Given the description of an element on the screen output the (x, y) to click on. 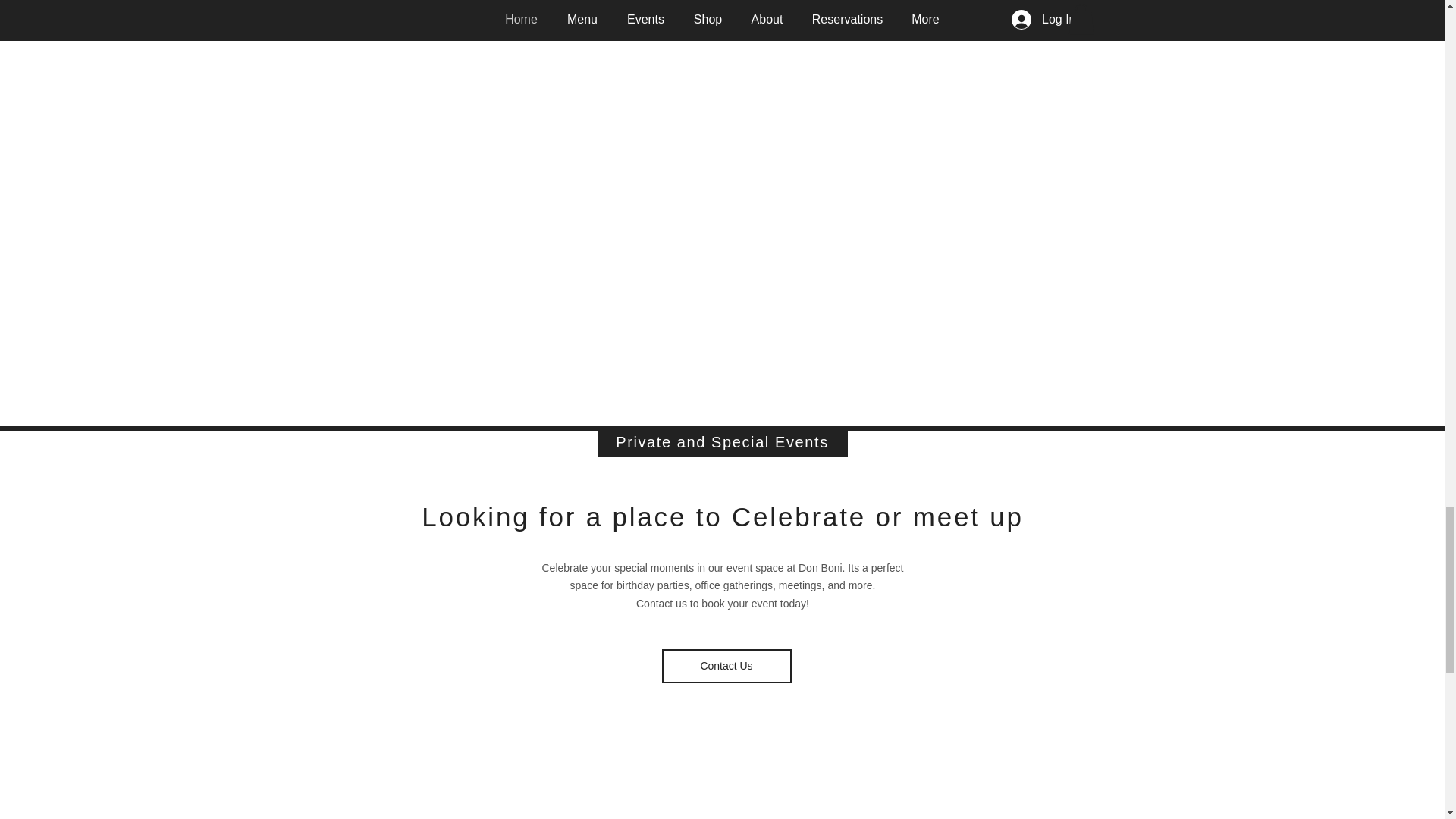
Contact Us (725, 666)
